Given the description of an element on the screen output the (x, y) to click on. 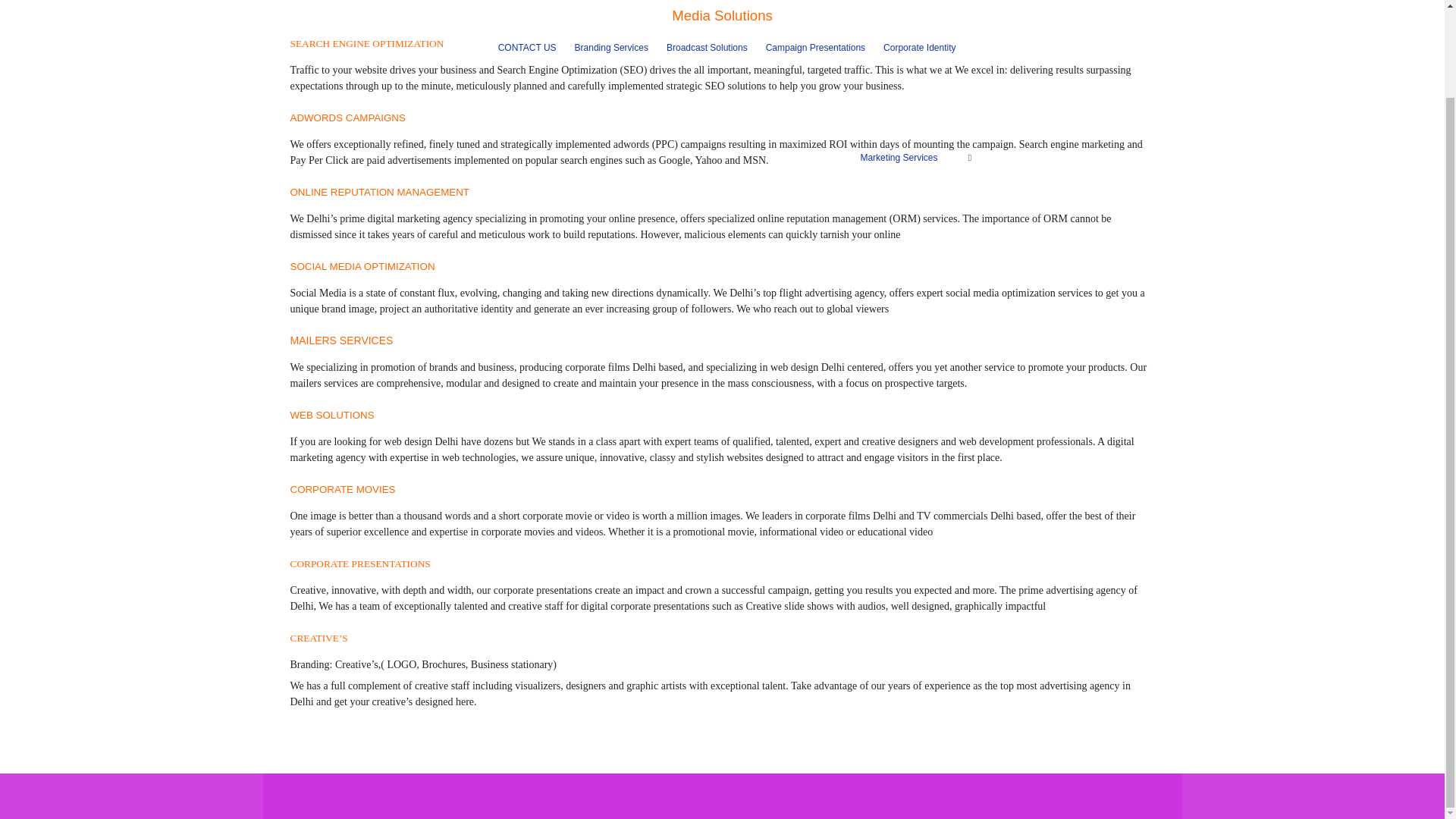
Broadcast Solutions (707, 47)
Branding Services (611, 47)
Corporate Identity (919, 47)
Marketing Services (898, 157)
Campaign Presentations (814, 47)
